Given the description of an element on the screen output the (x, y) to click on. 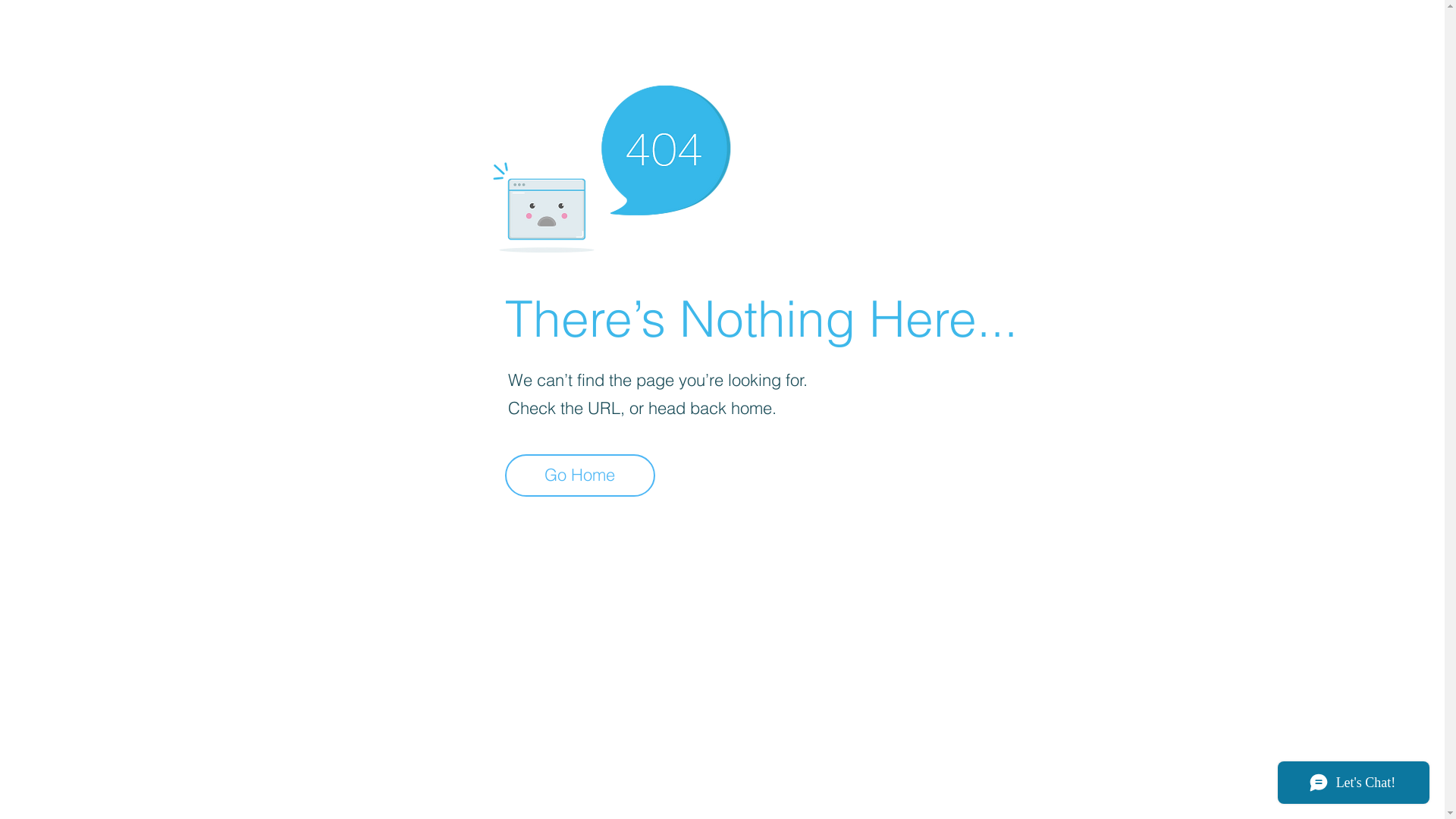
Go Home Element type: text (580, 475)
404-icon_2.png Element type: hover (610, 164)
